Given the description of an element on the screen output the (x, y) to click on. 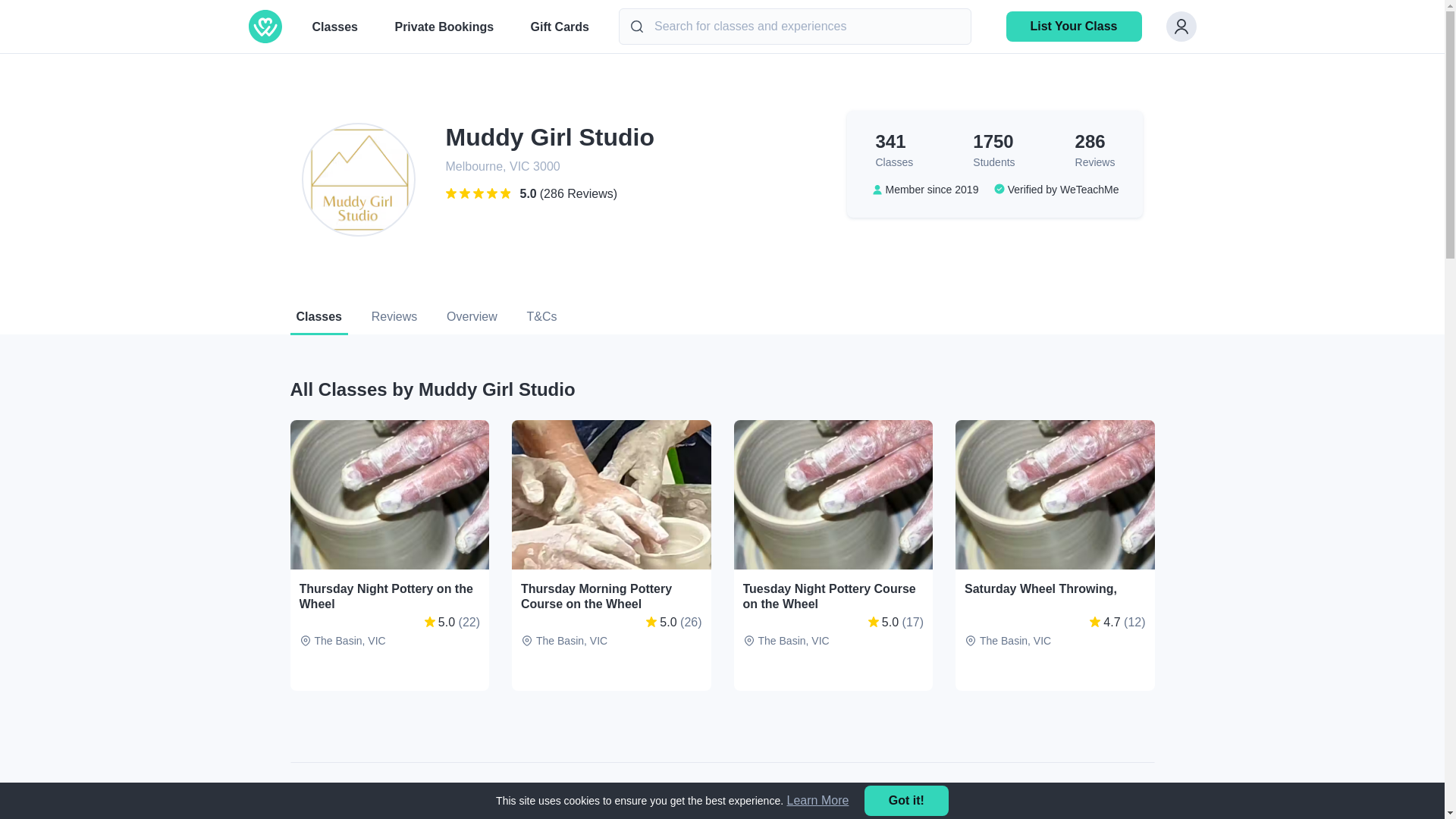
profile (335, 33)
Got it! (906, 800)
Learn More (817, 799)
